Given the description of an element on the screen output the (x, y) to click on. 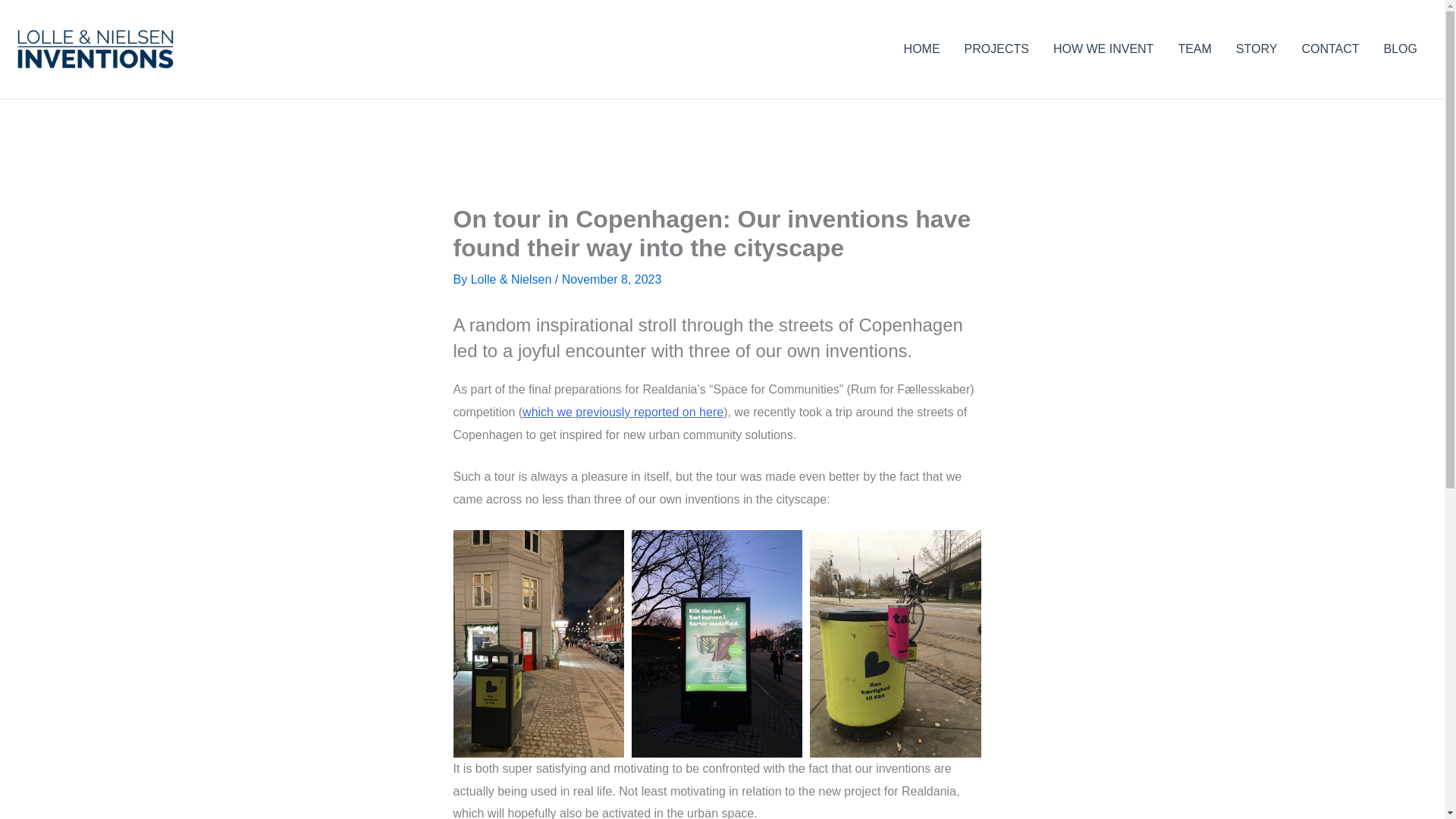
PROJECTS (996, 49)
which we previously reported on here (622, 411)
HOW WE INVENT (1103, 49)
